Given the description of an element on the screen output the (x, y) to click on. 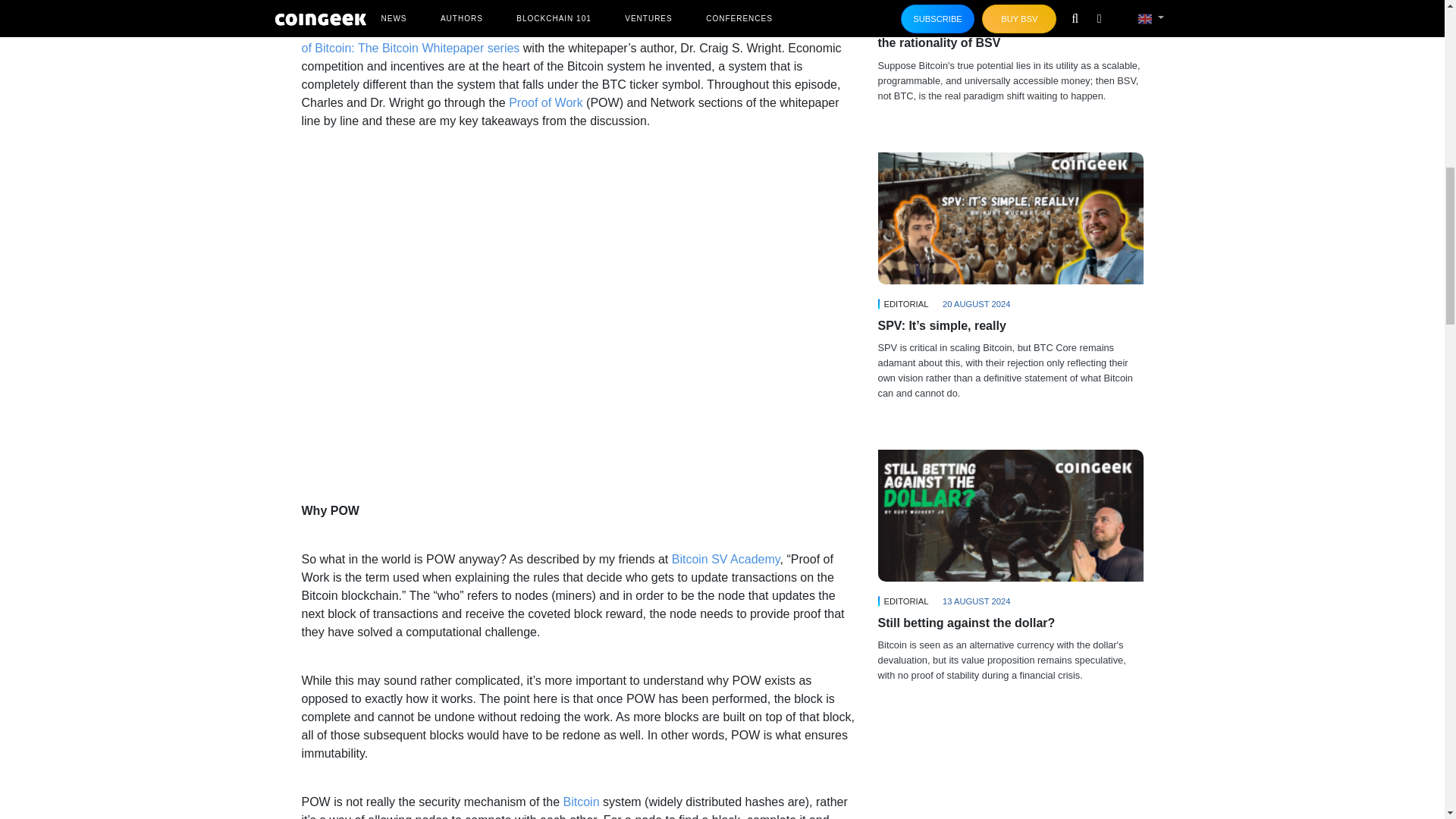
Proof of Work (545, 102)
Still betting against the dollar? (1009, 515)
Bitcoin SV Academy (725, 558)
